Given the description of an element on the screen output the (x, y) to click on. 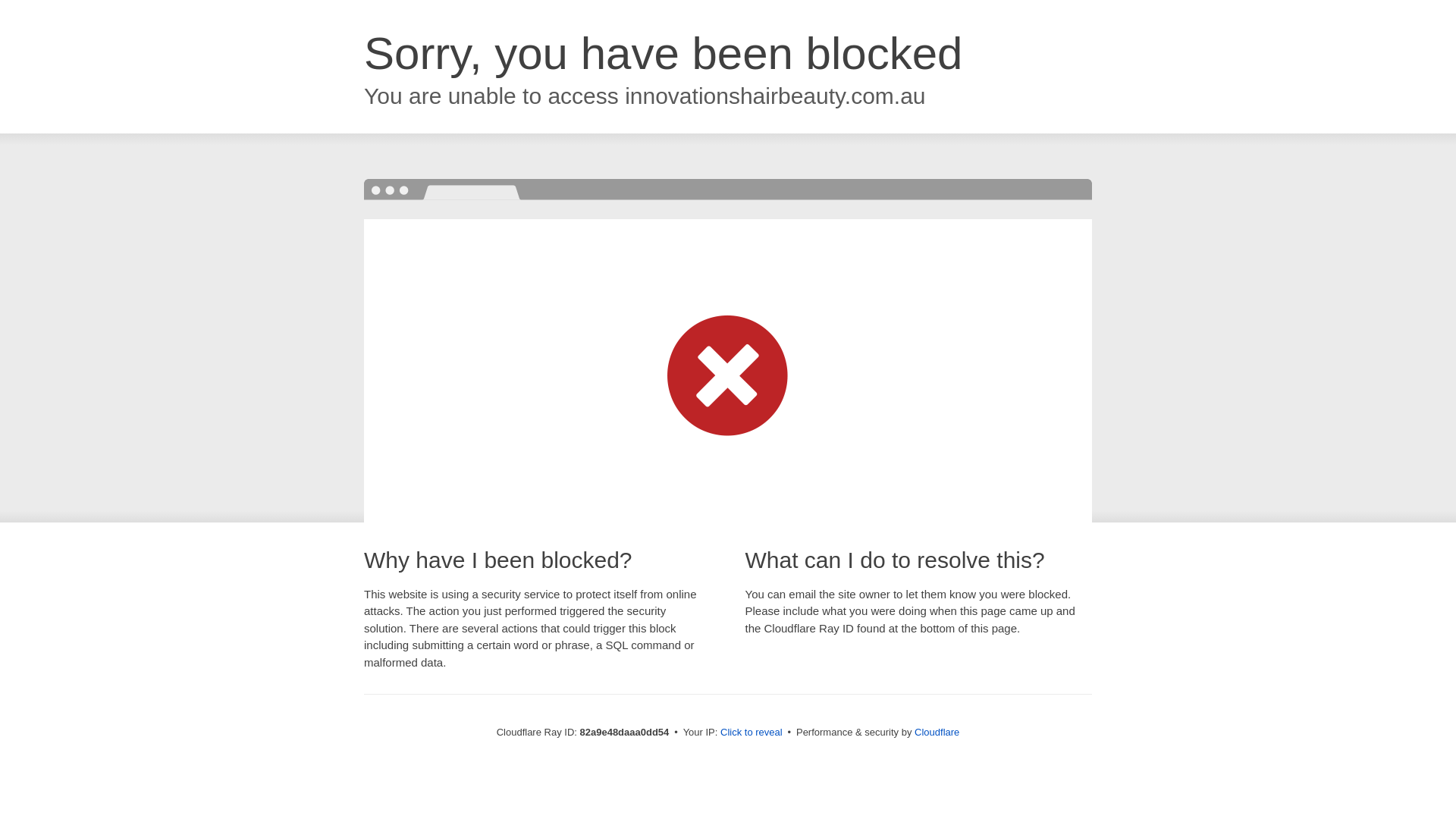
Cloudflare Element type: text (936, 731)
Click to reveal Element type: text (751, 732)
